Given the description of an element on the screen output the (x, y) to click on. 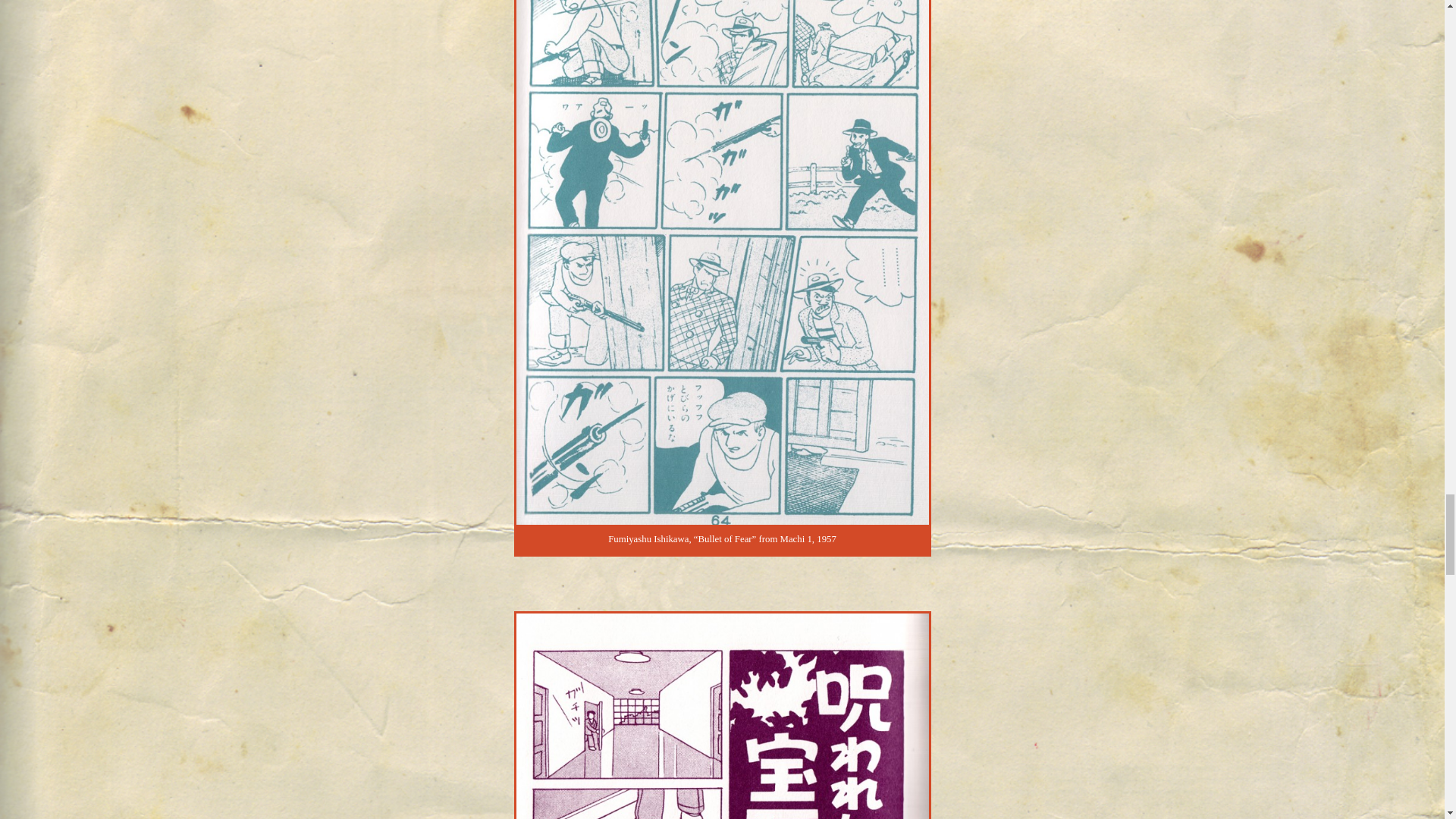
Shoichi SAKURAI - Kage 1 (721, 716)
